Given the description of an element on the screen output the (x, y) to click on. 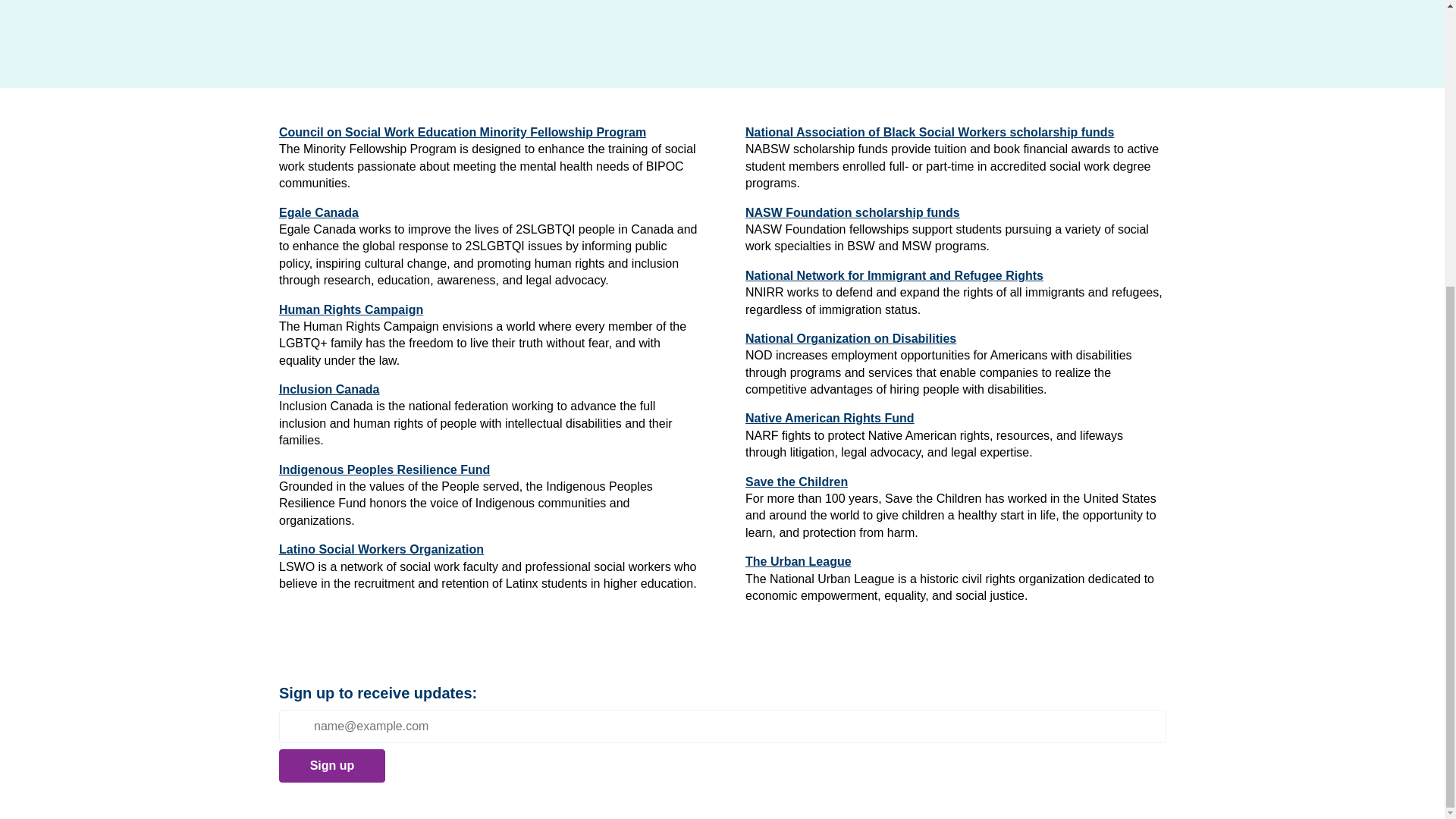
Save the Children (795, 481)
Egale Canada (318, 212)
The Urban League (797, 562)
Sign up (332, 765)
Sign up (332, 765)
Native American Rights Fund (829, 418)
Inclusion Canada (328, 390)
Human Rights Campaign (351, 309)
Council on Social Work Education Minority Fellowship Program (462, 132)
